Given the description of an element on the screen output the (x, y) to click on. 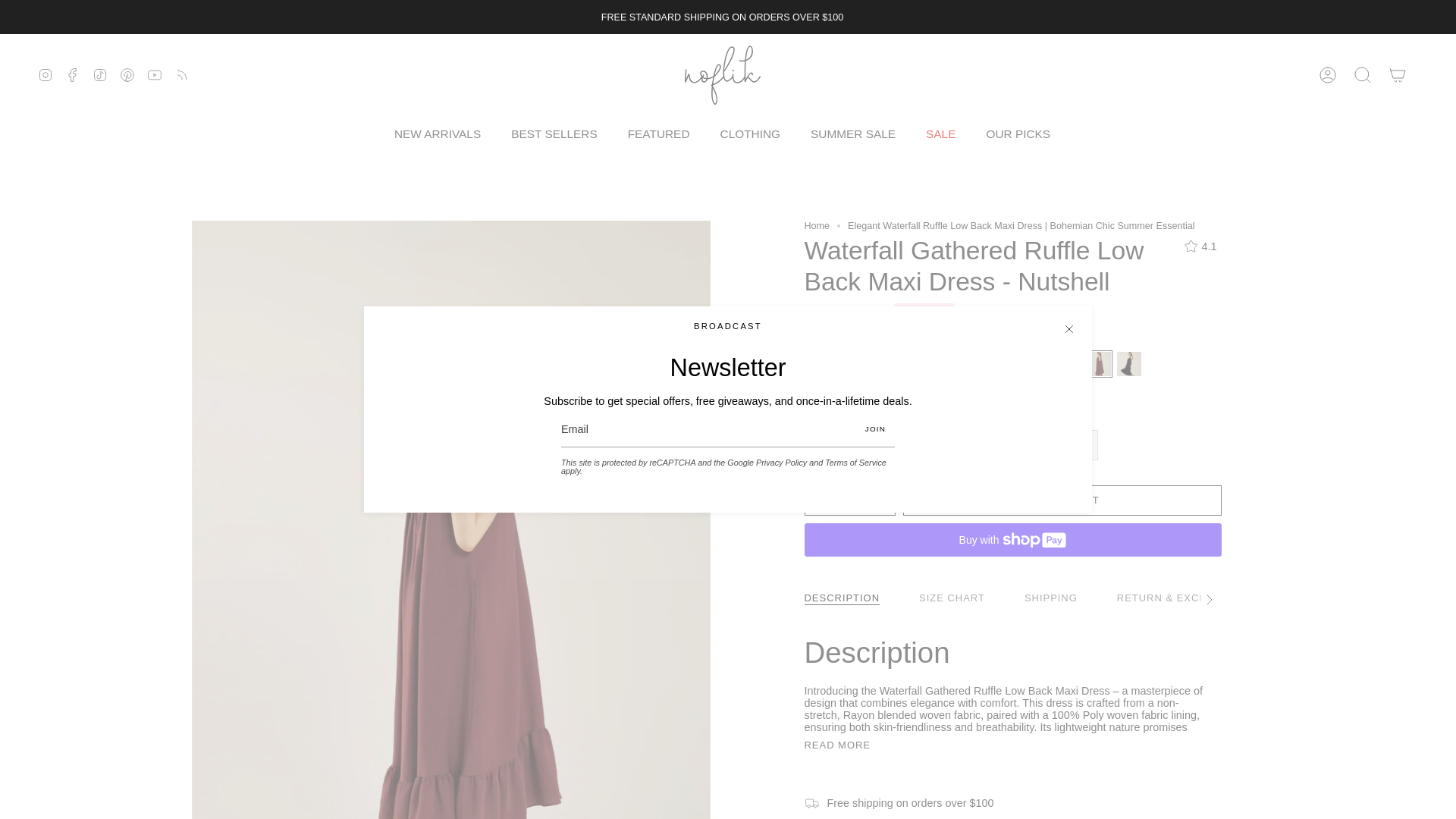
FEATURED (658, 134)
BEST SELLERS (553, 134)
NEW ARRIVALS (437, 134)
CLOTHING (750, 134)
